Given the description of an element on the screen output the (x, y) to click on. 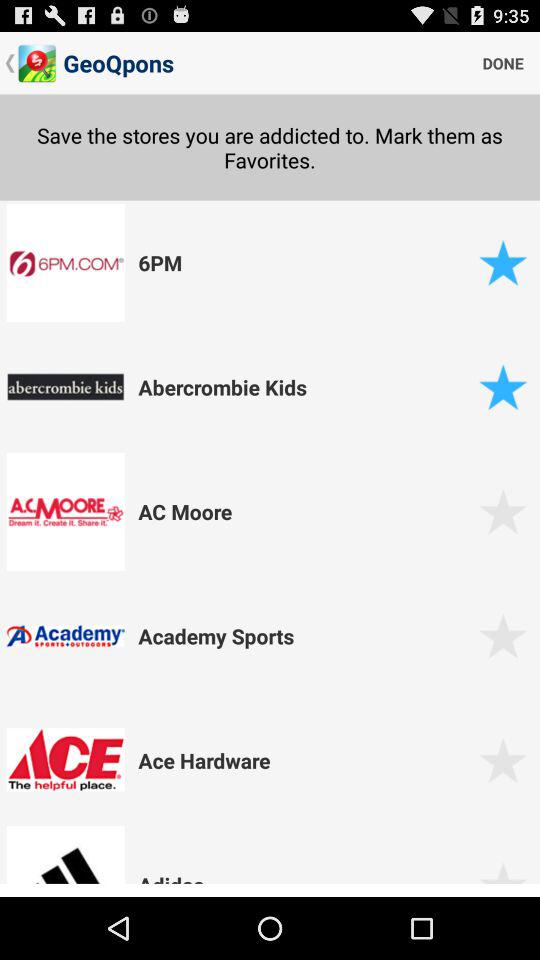
add to favorite (502, 635)
